Given the description of an element on the screen output the (x, y) to click on. 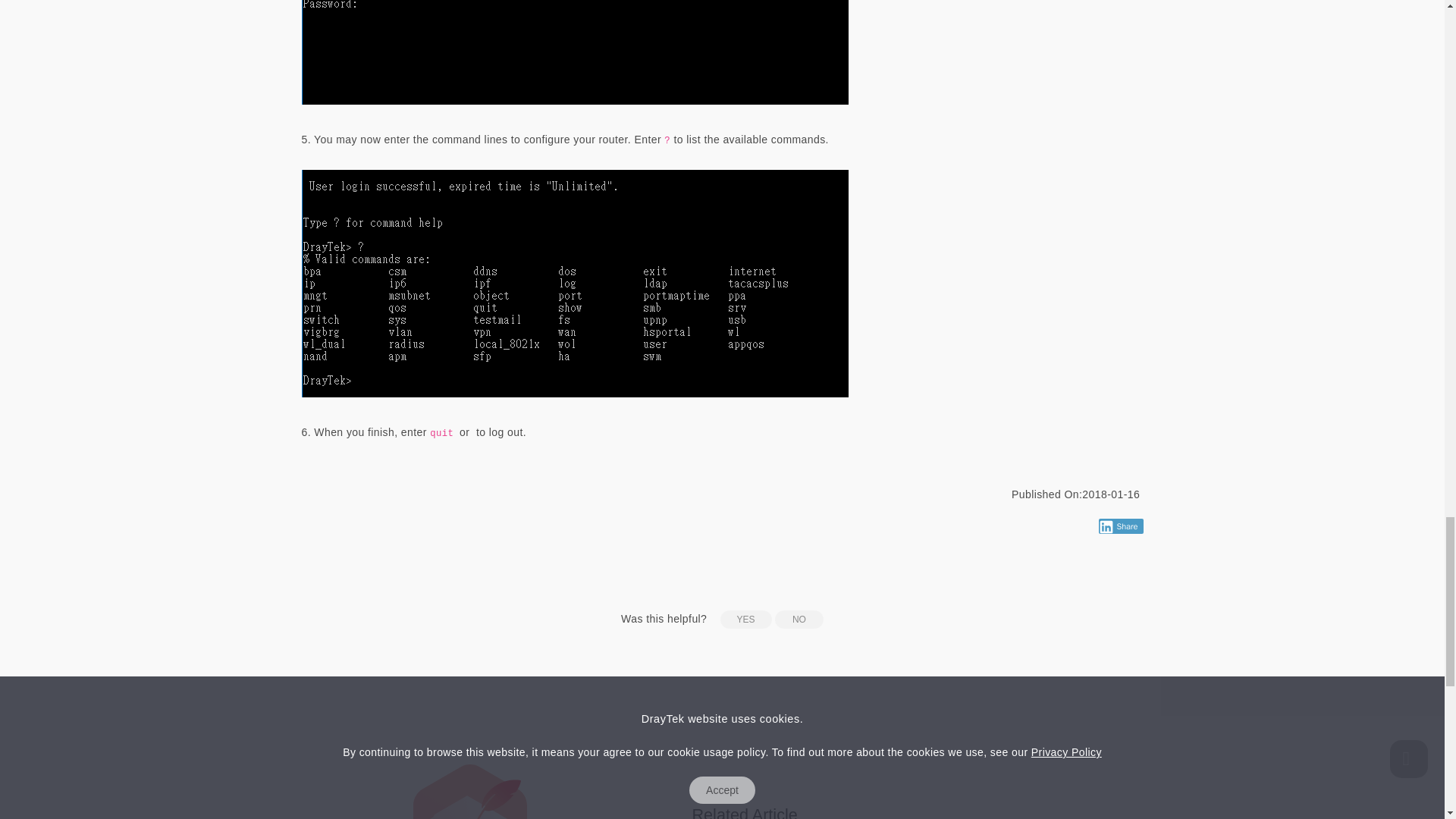
Twitter Tweet Button (1073, 525)
